Given the description of an element on the screen output the (x, y) to click on. 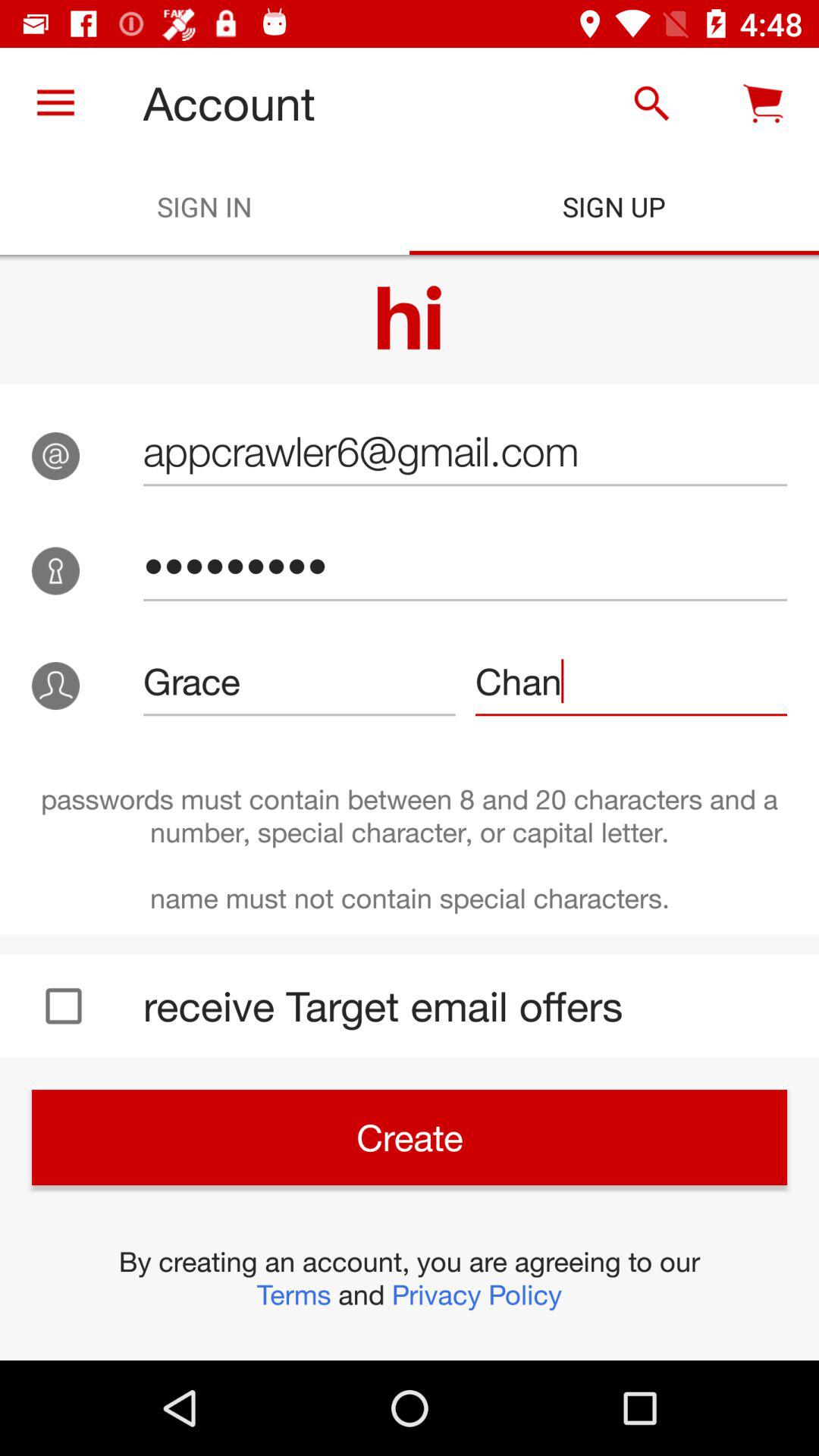
select the crowd3116 icon (465, 566)
